Given the description of an element on the screen output the (x, y) to click on. 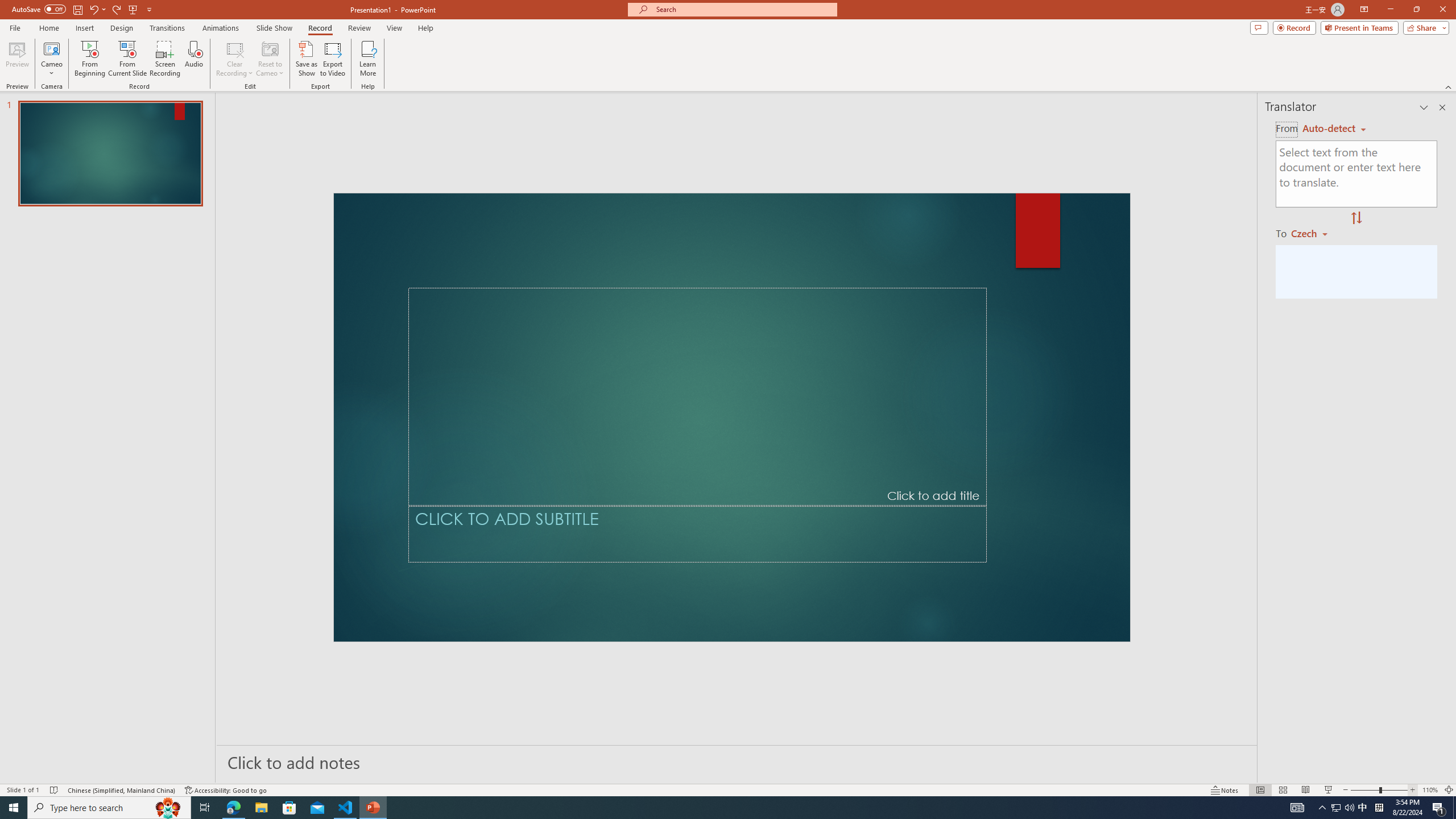
Comments (1275, 48)
References (393, 47)
Page down (1448, 530)
Pen: Black, 0.5 mm (159, 89)
Format Background (440, 92)
OfficePLUS (132, 47)
Mailings (458, 47)
Page right (1197, 757)
Close (1435, 18)
Undo Click and Type Formatting (165, 18)
Focus  (1175, 773)
Insert (191, 47)
Highlighter: Yellow, 6 mm (324, 89)
Can't Repeat (193, 18)
